Given the description of an element on the screen output the (x, y) to click on. 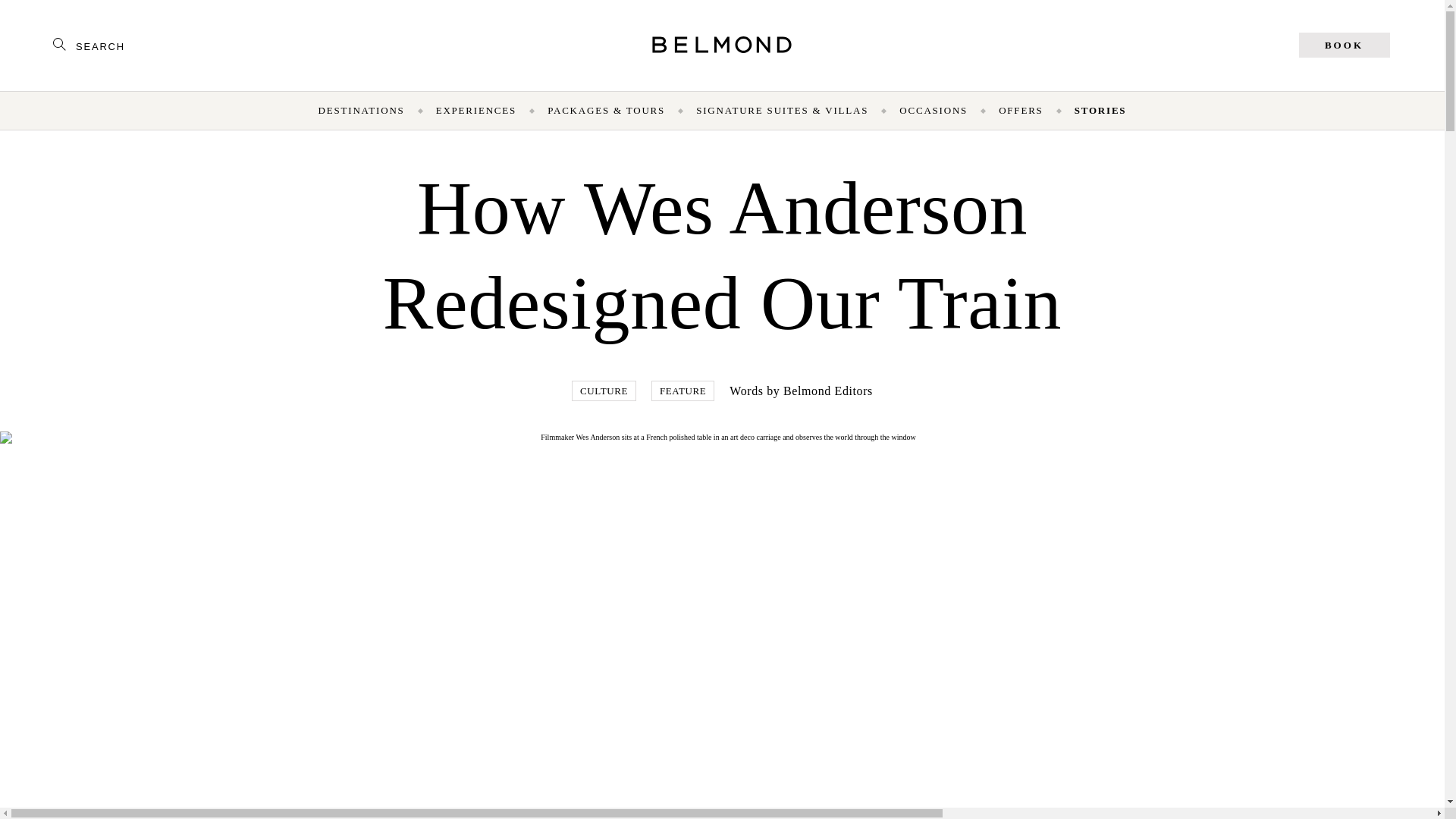
OCCASIONS (933, 110)
OFFERS (1020, 110)
EXPERIENCES (475, 110)
DESTINATIONS (361, 110)
STORIES (1100, 110)
